Given the description of an element on the screen output the (x, y) to click on. 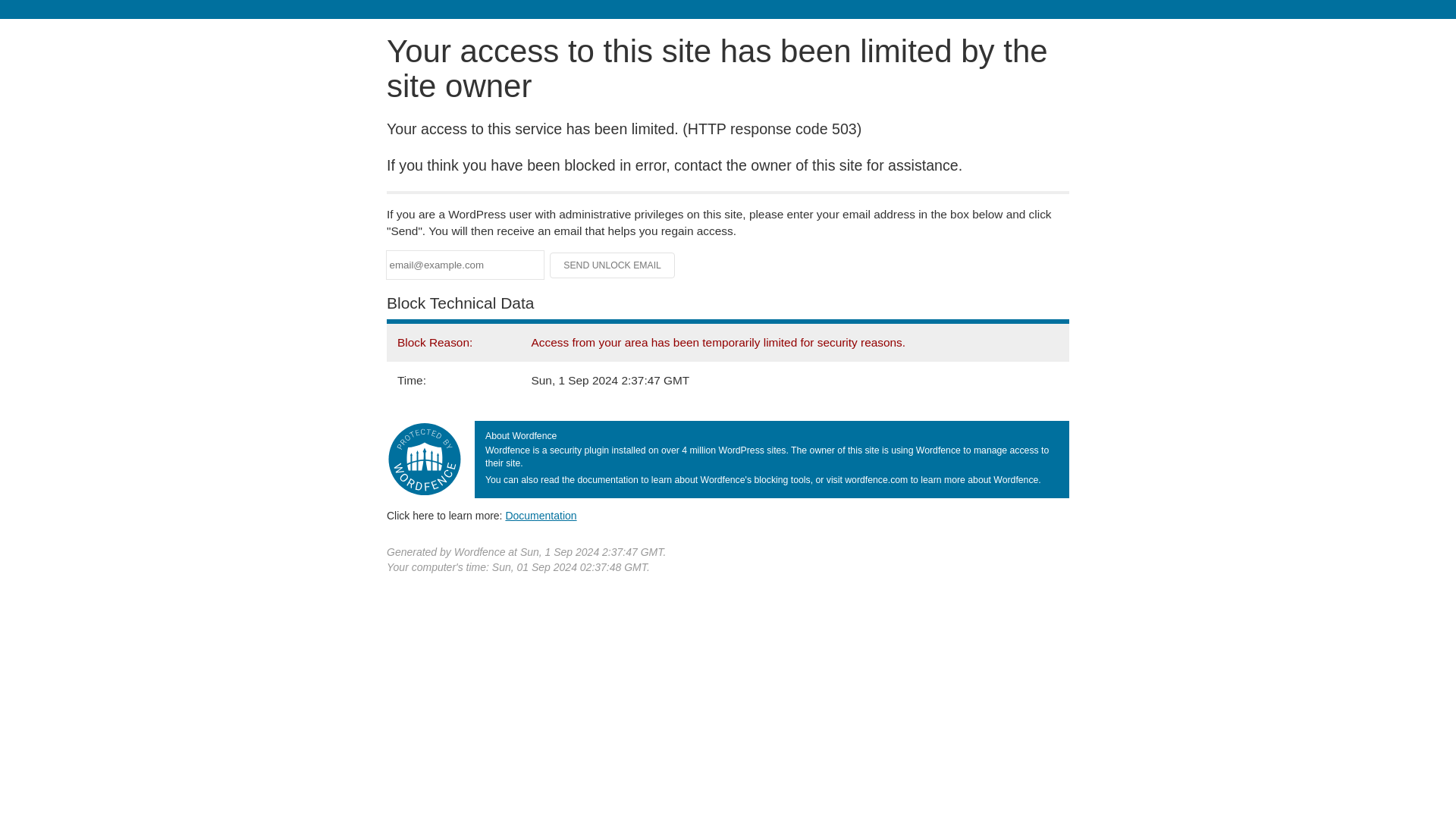
Documentation (540, 515)
Send Unlock Email (612, 265)
Send Unlock Email (612, 265)
